Given the description of an element on the screen output the (x, y) to click on. 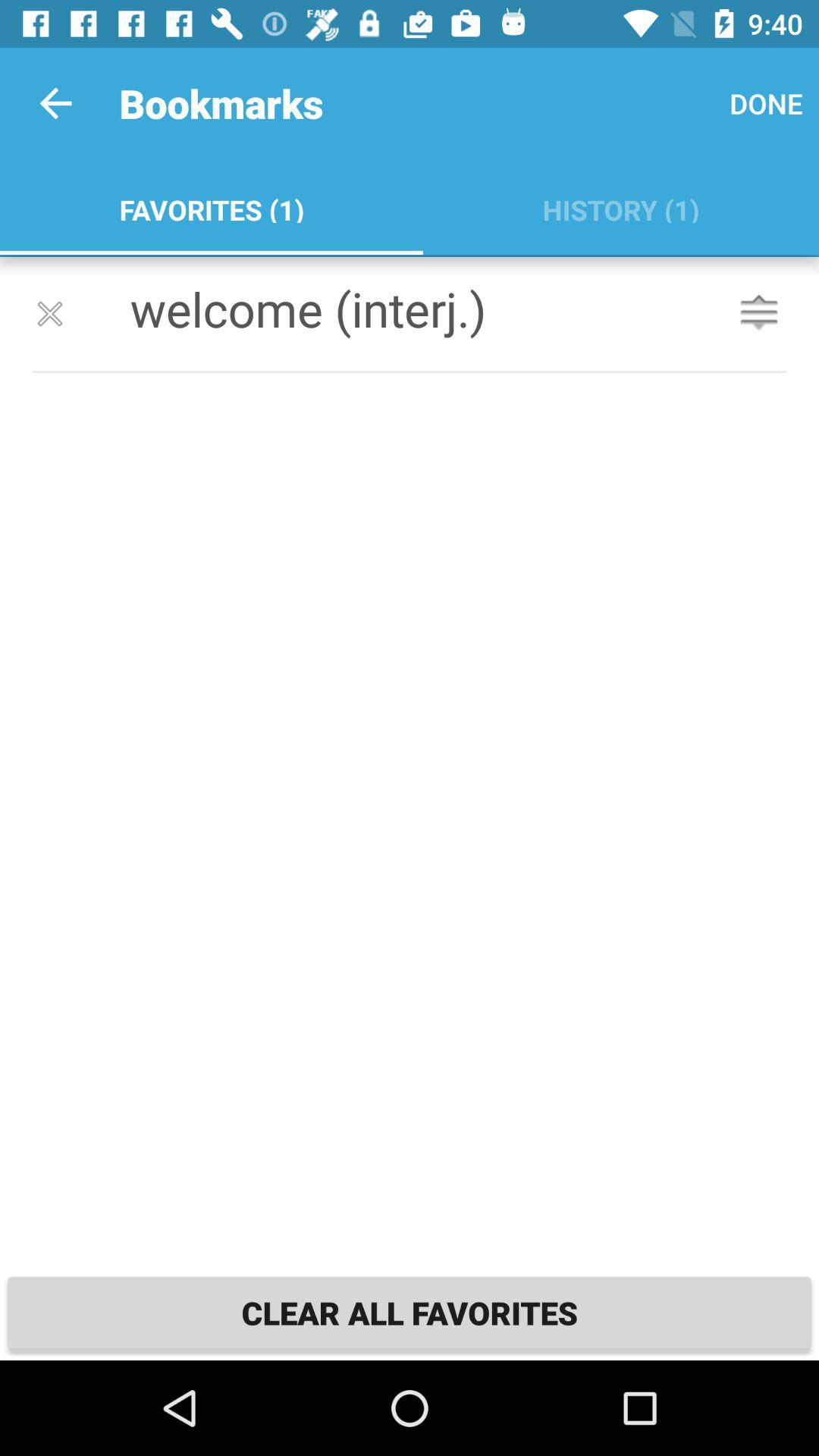
launch icon to the left of bookmarks item (55, 103)
